Given the description of an element on the screen output the (x, y) to click on. 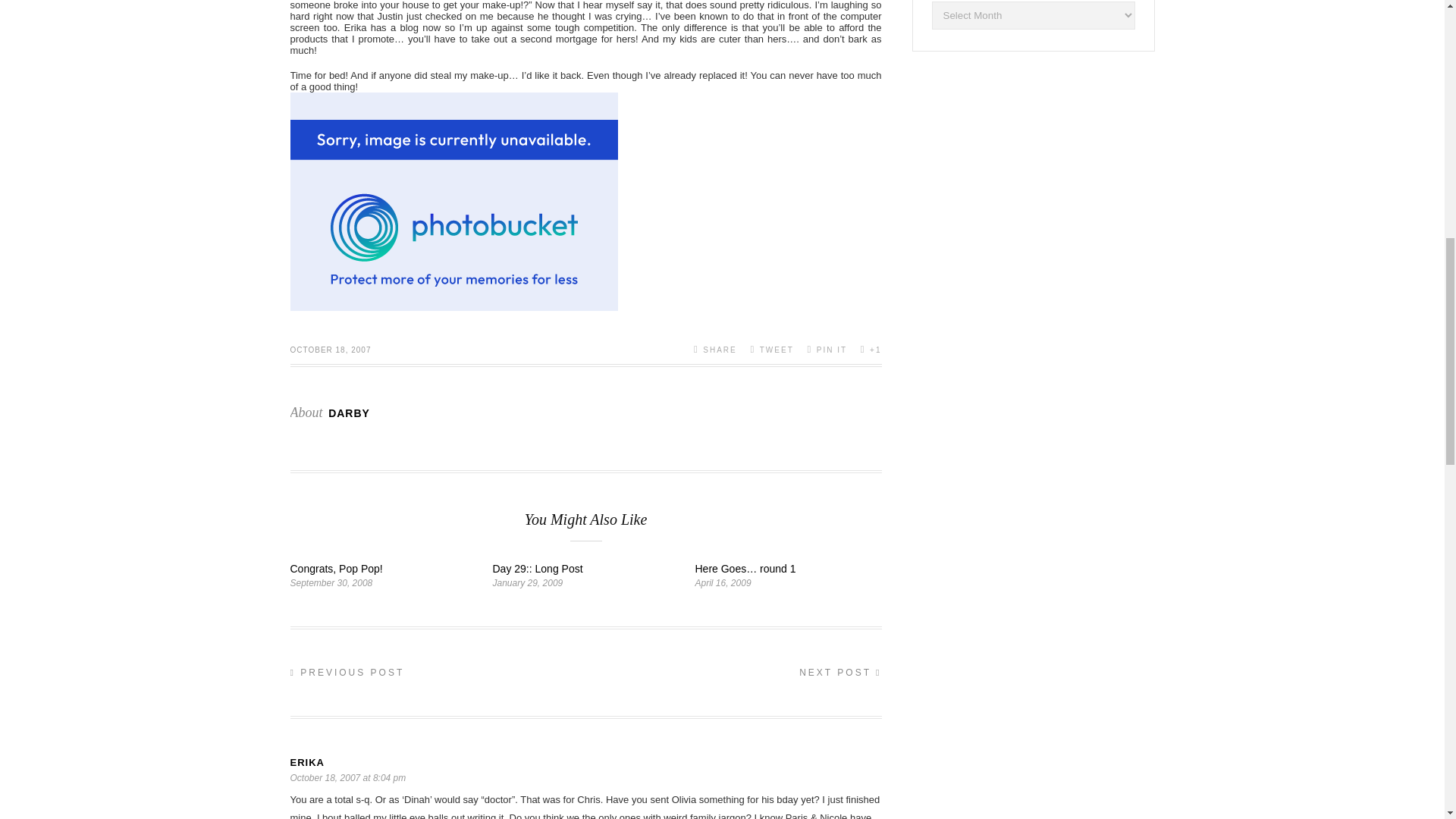
Day 29:: Long Post (538, 568)
PIN IT (826, 348)
Congrats, Pop Pop! (335, 568)
PREVIOUS POST (346, 672)
DARBY (349, 413)
TWEET (771, 348)
Posts by Darby (349, 413)
SHARE (715, 348)
